Given the description of an element on the screen output the (x, y) to click on. 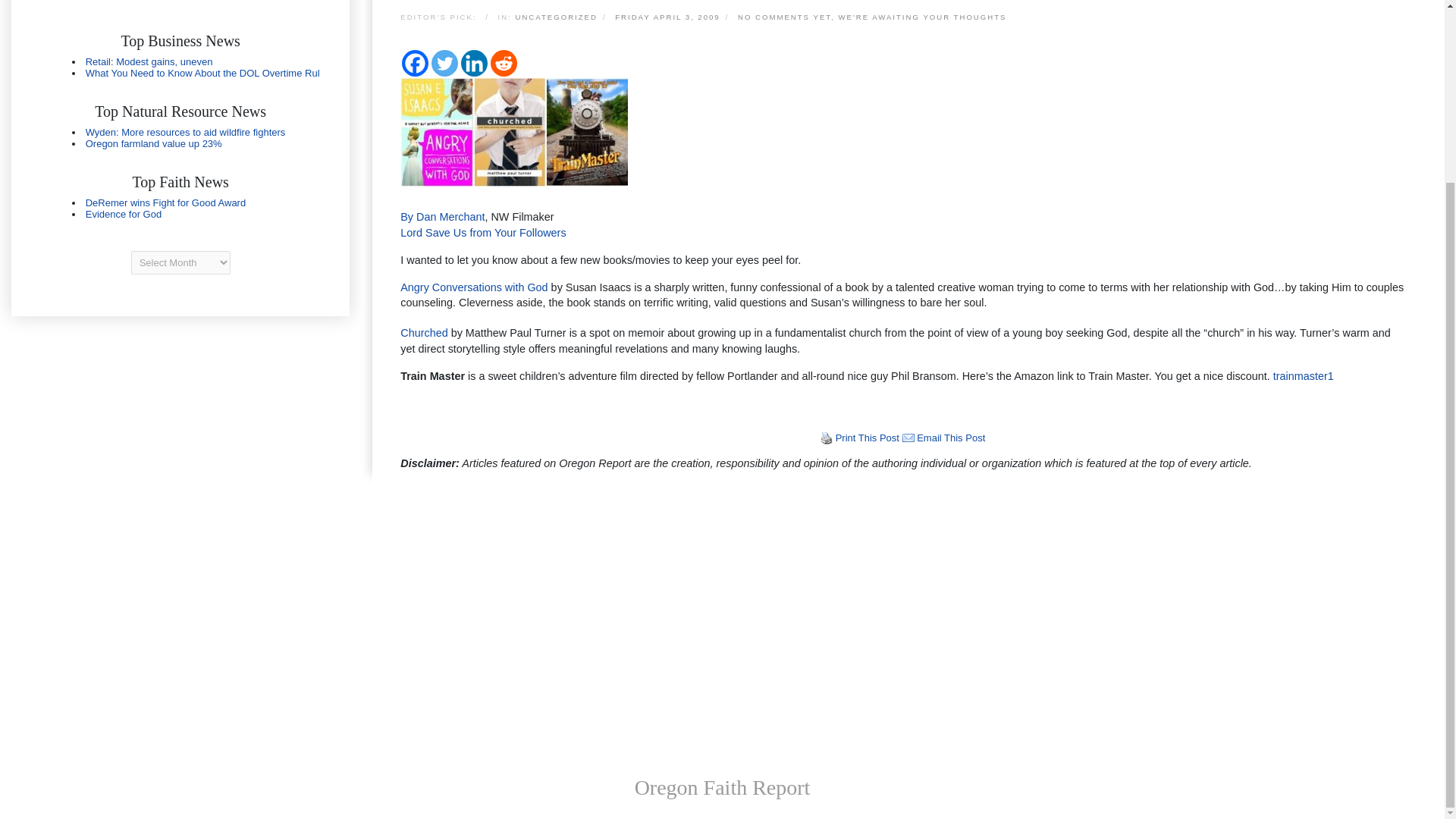
Wyden: More resources to aid wildfire fighters (185, 132)
Retail: Modest gains, uneven (148, 61)
Facebook (414, 62)
Oregon (181, 137)
Twitter (444, 62)
Angry Conversations with God (473, 287)
DeRemer wins Fight for Good Award (165, 202)
Print This Post (826, 438)
Email This Post (908, 437)
By Dan Merchant (442, 216)
Wyden: More resources to aid wildfire fighters (185, 132)
Oregon Faith Report (722, 787)
Lord Save Us from Your Followers (483, 232)
trainmaster1 (1301, 376)
UNCATEGORIZED (555, 18)
